Given the description of an element on the screen output the (x, y) to click on. 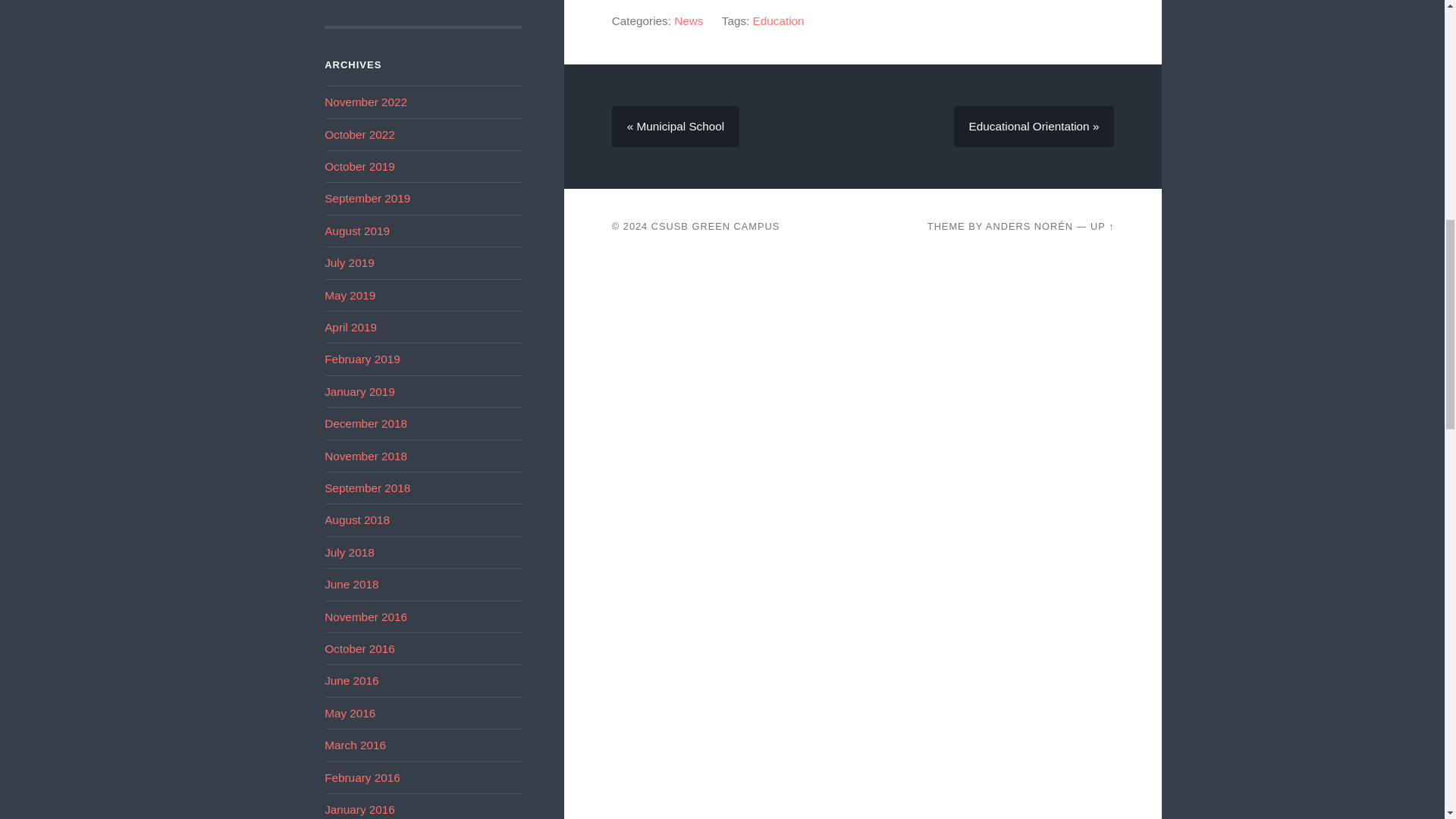
July 2019 (349, 262)
February 2016 (362, 777)
November 2022 (365, 101)
June 2018 (351, 584)
April 2019 (350, 327)
September 2019 (367, 197)
February 2019 (362, 358)
September 2018 (367, 487)
October 2022 (359, 133)
May 2016 (349, 712)
June 2016 (351, 680)
October 2016 (359, 648)
November 2018 (365, 455)
July 2018 (349, 552)
October 2019 (359, 165)
